Given the description of an element on the screen output the (x, y) to click on. 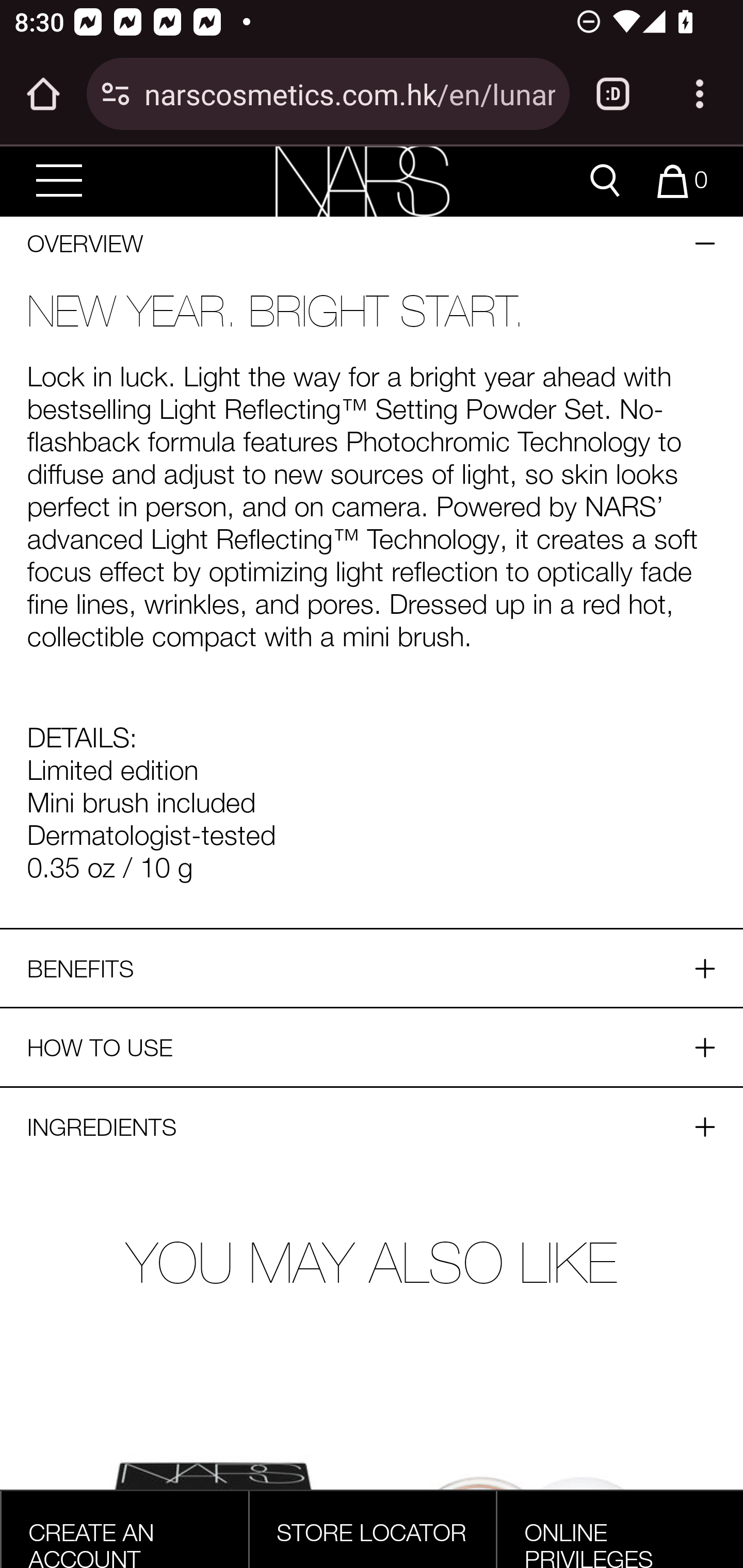
Open the home page (43, 93)
Connection is secure (115, 93)
Switch or close tabs (612, 93)
Customize and control Google Chrome (699, 93)
NARS (361, 180)
WHAT ARE YOU LOOKING FOR? (605, 181)
OVERVIEW  OVERVIEW  (371, 242)
BENEFITS  BENEFITS  (371, 968)
HOW TO USE  HOW TO USE  (371, 1047)
INGREDIENTS  INGREDIENTS  (371, 1127)
CREATE AN ACCOUNT (90, 1542)
STORE LOCATOR (371, 1532)
ONLINE PRIVILEGES (588, 1542)
